Given the description of an element on the screen output the (x, y) to click on. 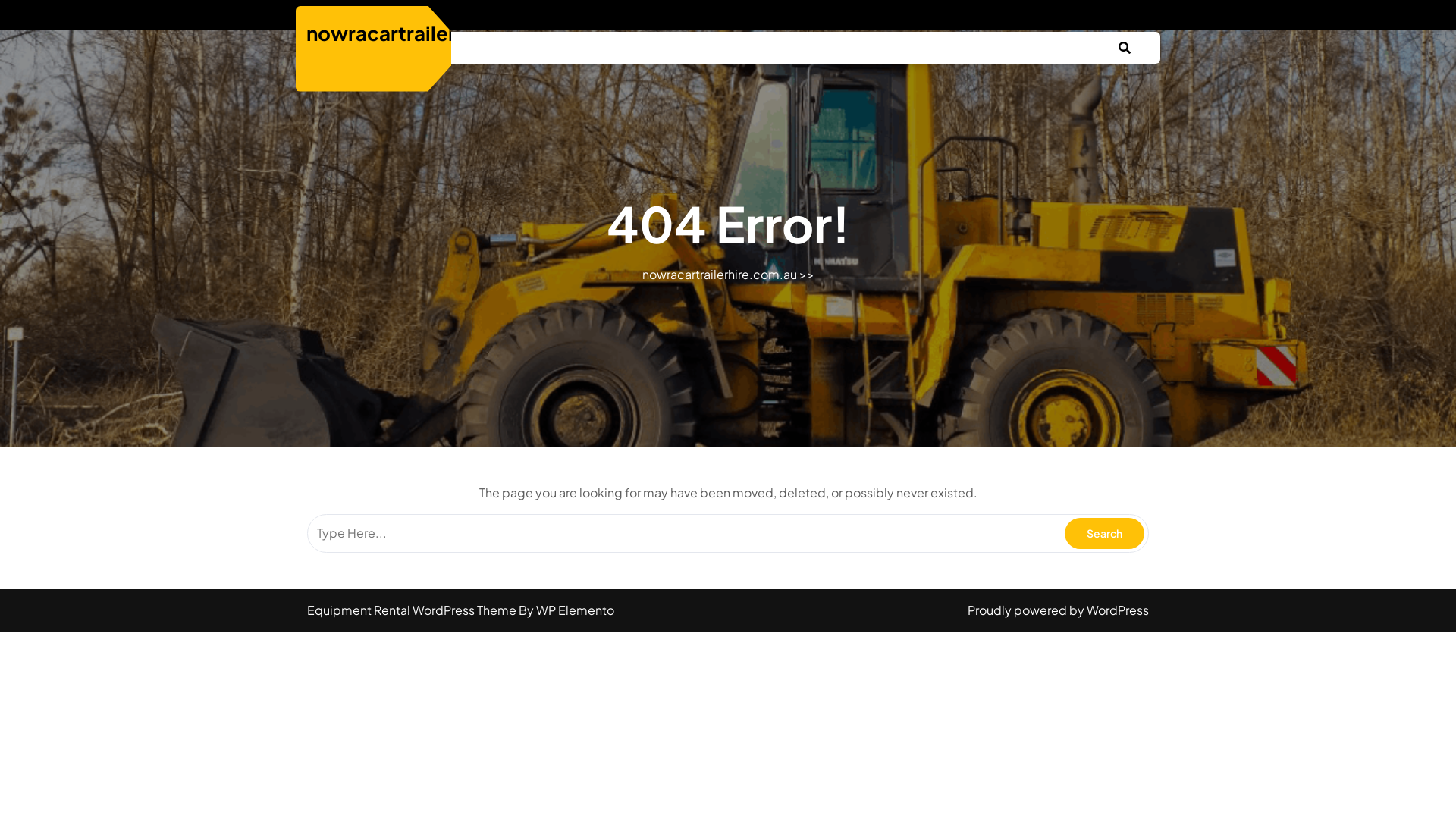
Equipment Rental WordPress Theme Element type: text (412, 610)
Search Element type: text (1104, 533)
Proudly powered by WordPress Element type: text (1057, 610)
nowracartrailerhire.com.au Element type: text (439, 31)
nowracartrailerhire.com.au Element type: text (718, 274)
